Given the description of an element on the screen output the (x, y) to click on. 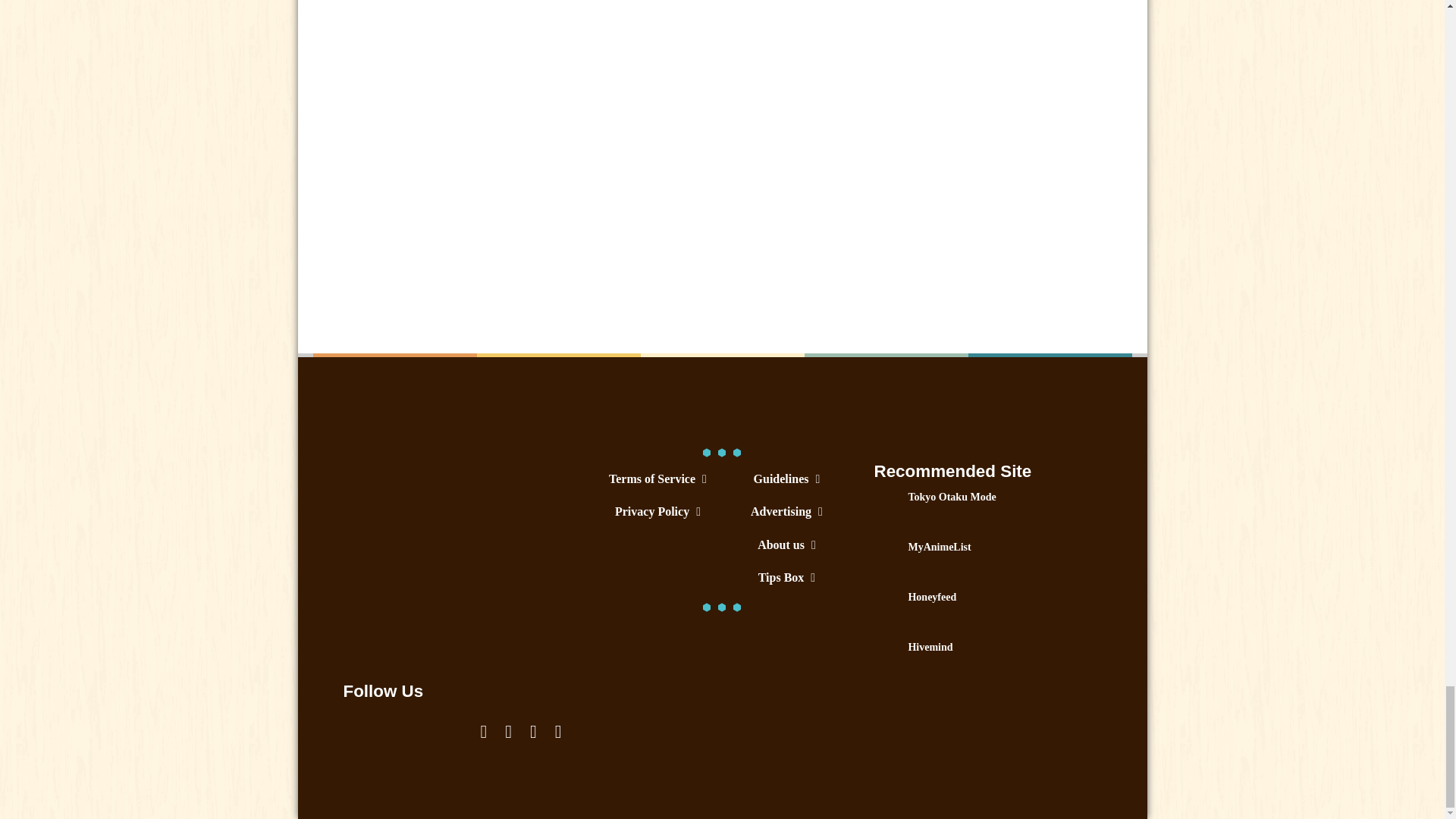
Terms of Service Agreement (657, 478)
Guidelines (786, 478)
Privacy Policy (657, 511)
